Given the description of an element on the screen output the (x, y) to click on. 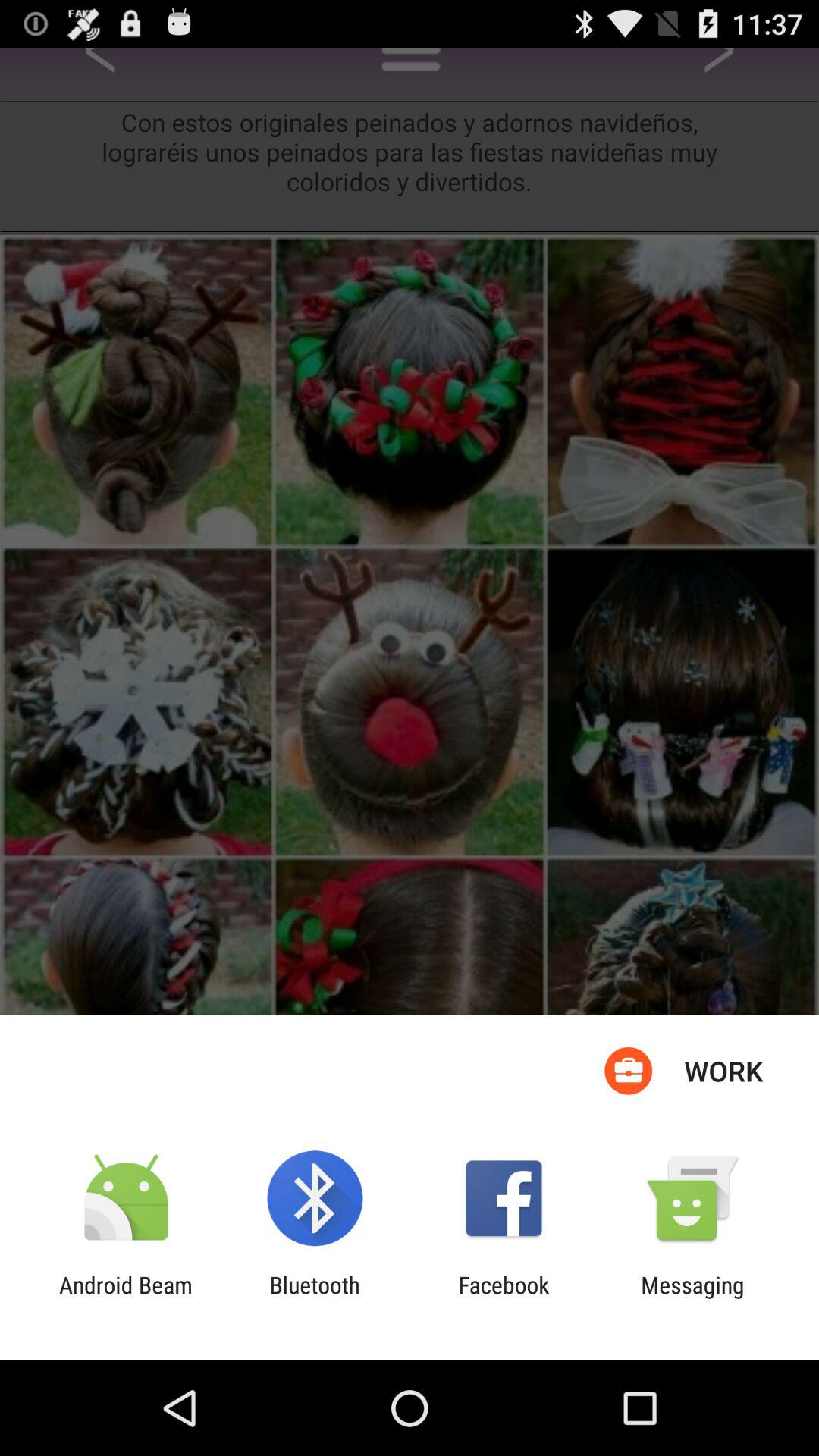
launch the app to the right of the bluetooth item (503, 1298)
